Given the description of an element on the screen output the (x, y) to click on. 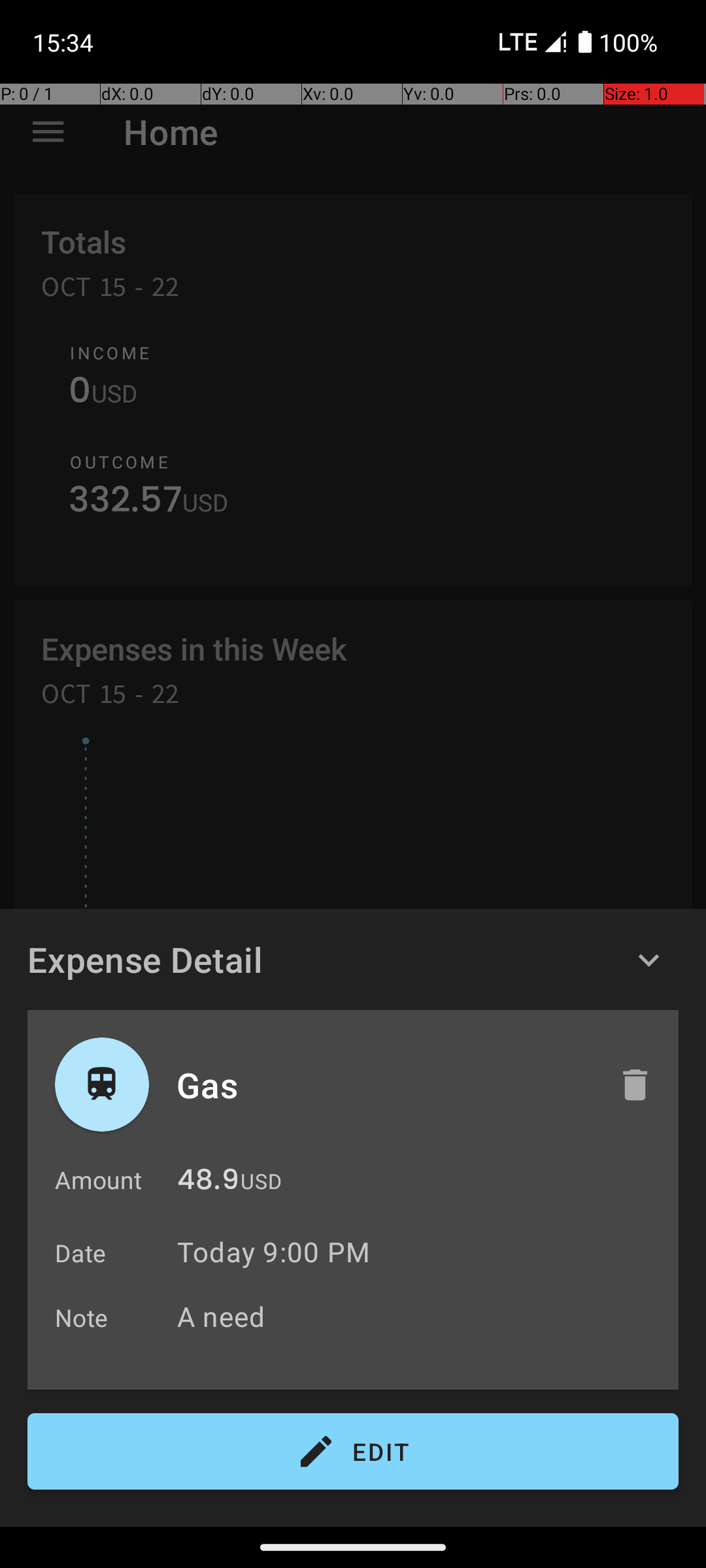
48.9 Element type: android.widget.TextView (207, 1182)
